Given the description of an element on the screen output the (x, y) to click on. 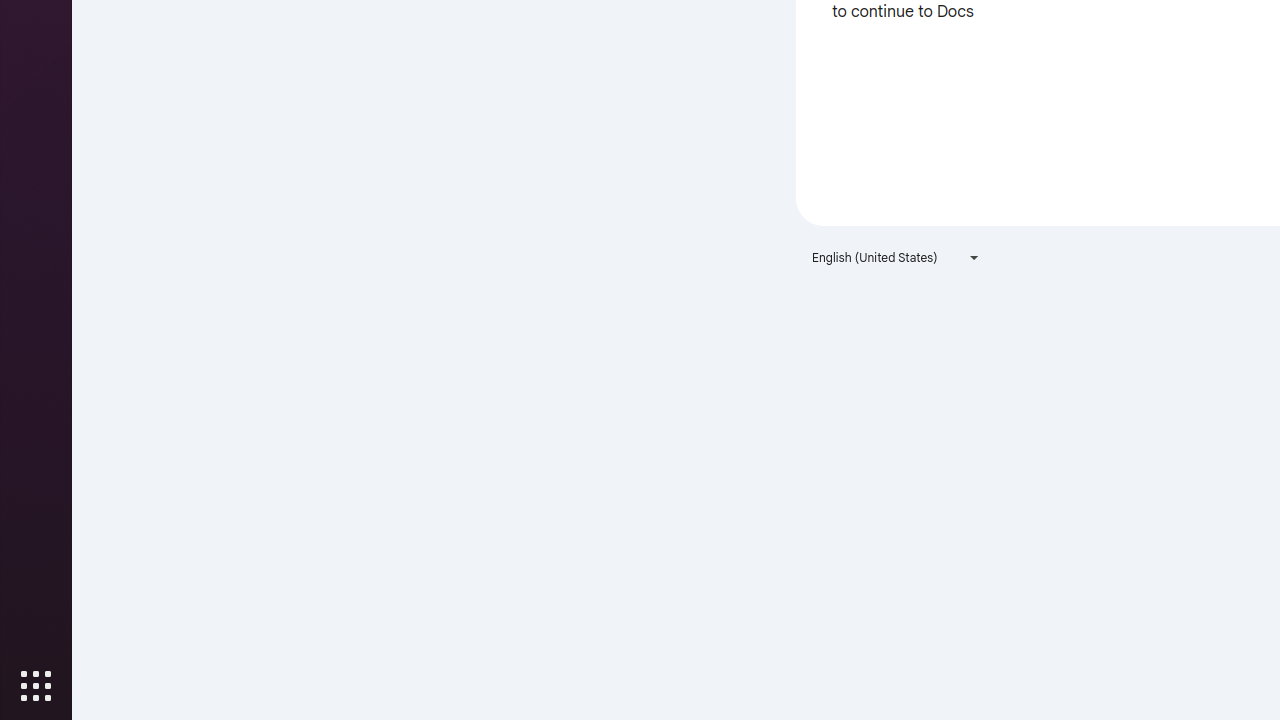
Show Applications Element type: toggle-button (36, 686)
​English (United States) Element type: combo-box (896, 258)
